Given the description of an element on the screen output the (x, y) to click on. 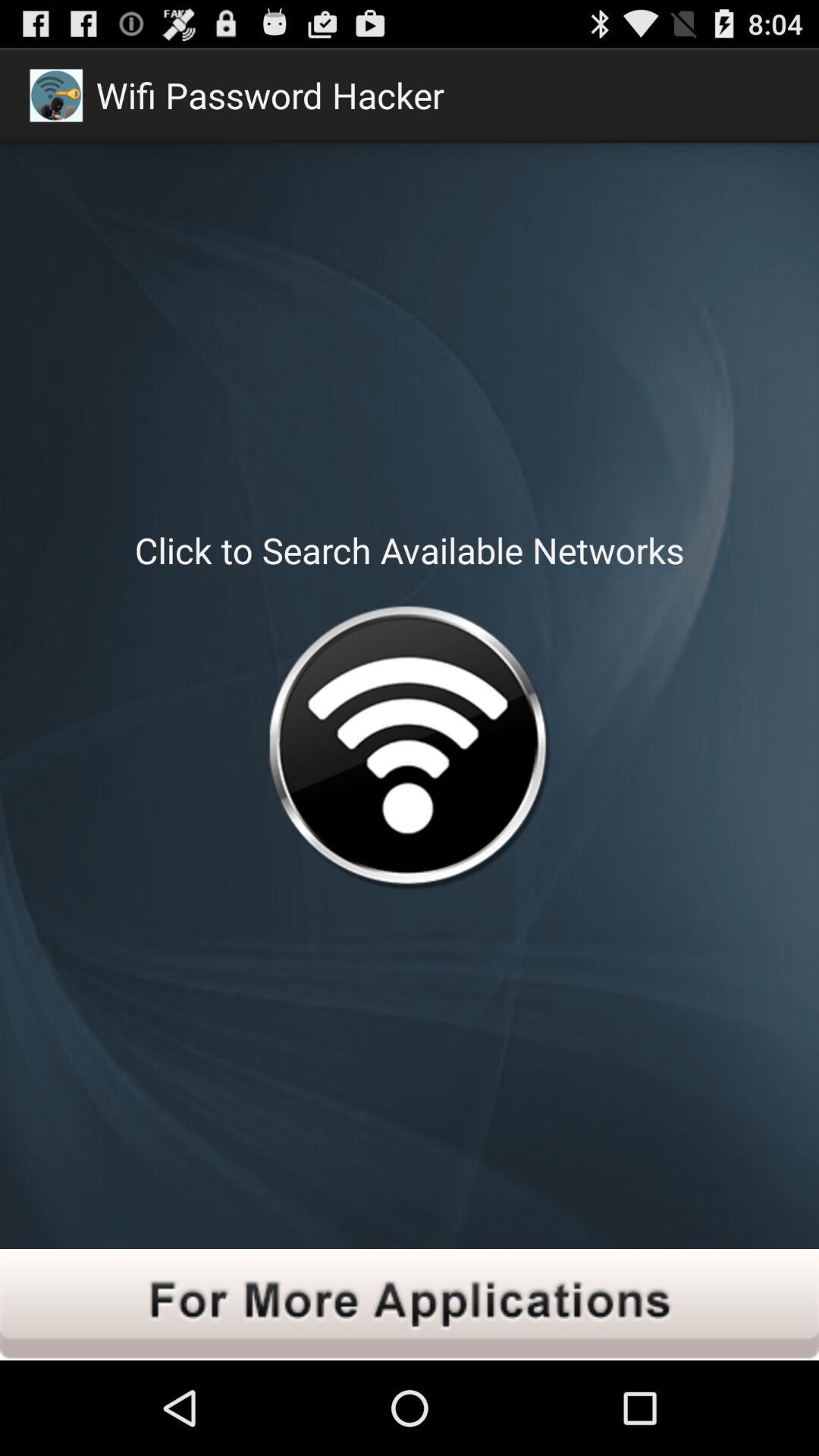
choose icon below click to search item (408, 751)
